Given the description of an element on the screen output the (x, y) to click on. 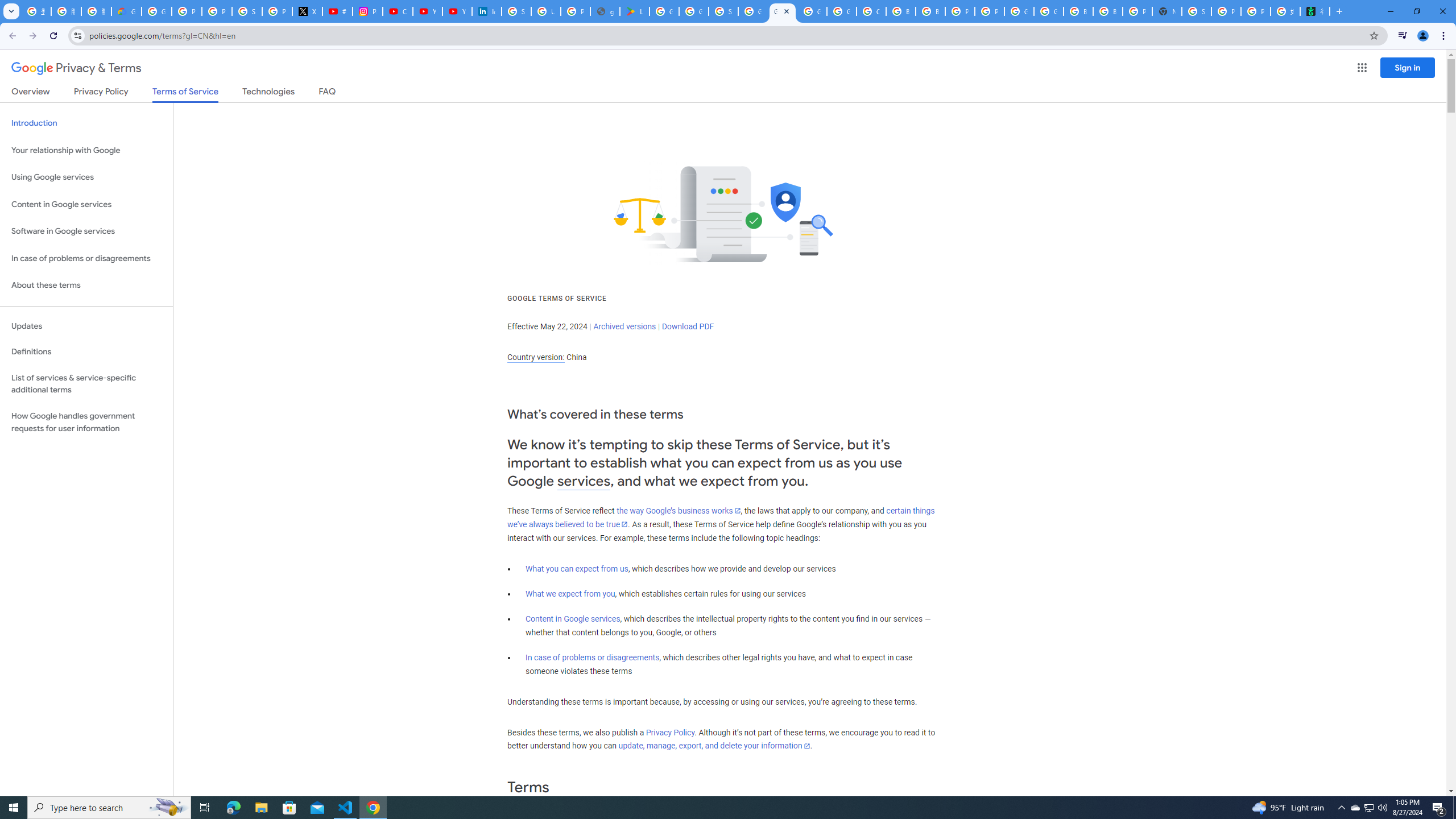
X (306, 11)
#nbabasketballhighlights - YouTube (337, 11)
Using Google services (86, 176)
Software in Google services (86, 230)
Google Cloud Platform (811, 11)
Last Shelter: Survival - Apps on Google Play (634, 11)
Browse Chrome as a guest - Computer - Google Chrome Help (1077, 11)
